Given the description of an element on the screen output the (x, y) to click on. 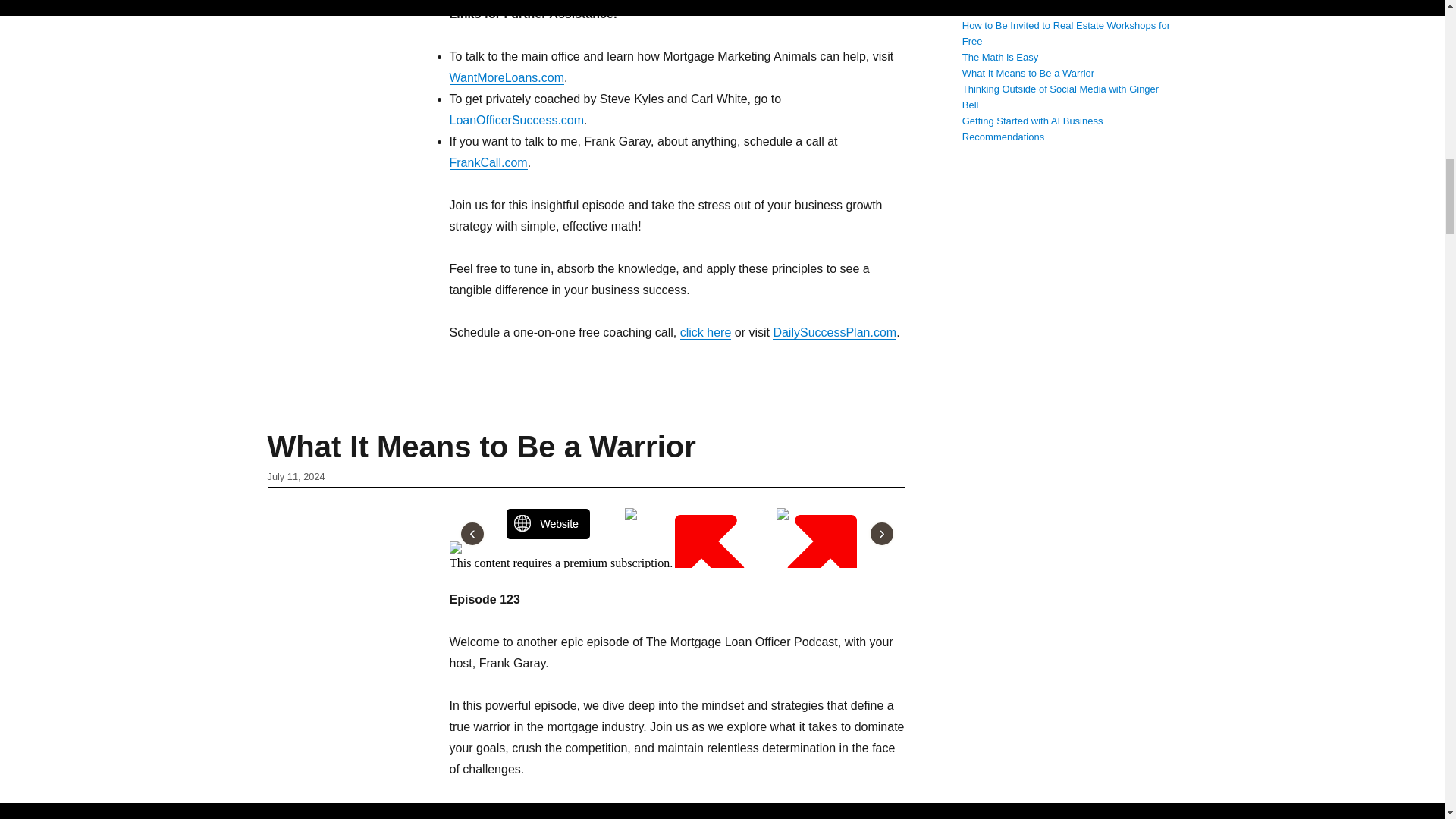
click here (705, 332)
WantMoreLoans.com (505, 77)
FrankCall.com (487, 162)
Libsyn Player (676, 533)
DailySuccessPlan.com (834, 332)
LoanOfficerSuccess.com (515, 119)
What It Means to Be a Warrior (480, 446)
